Given the description of an element on the screen output the (x, y) to click on. 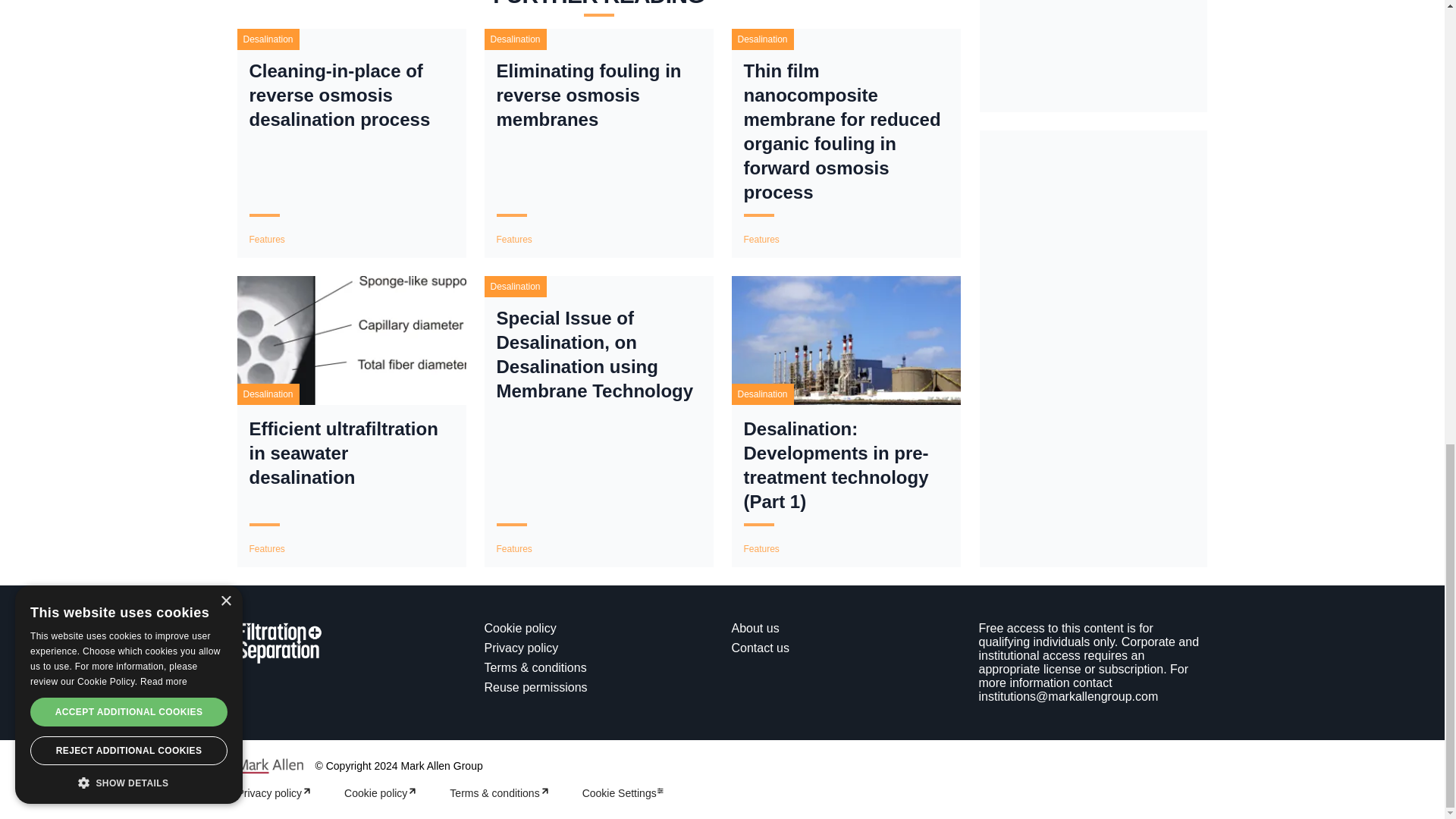
3rd party ad content (1093, 243)
